Given the description of an element on the screen output the (x, y) to click on. 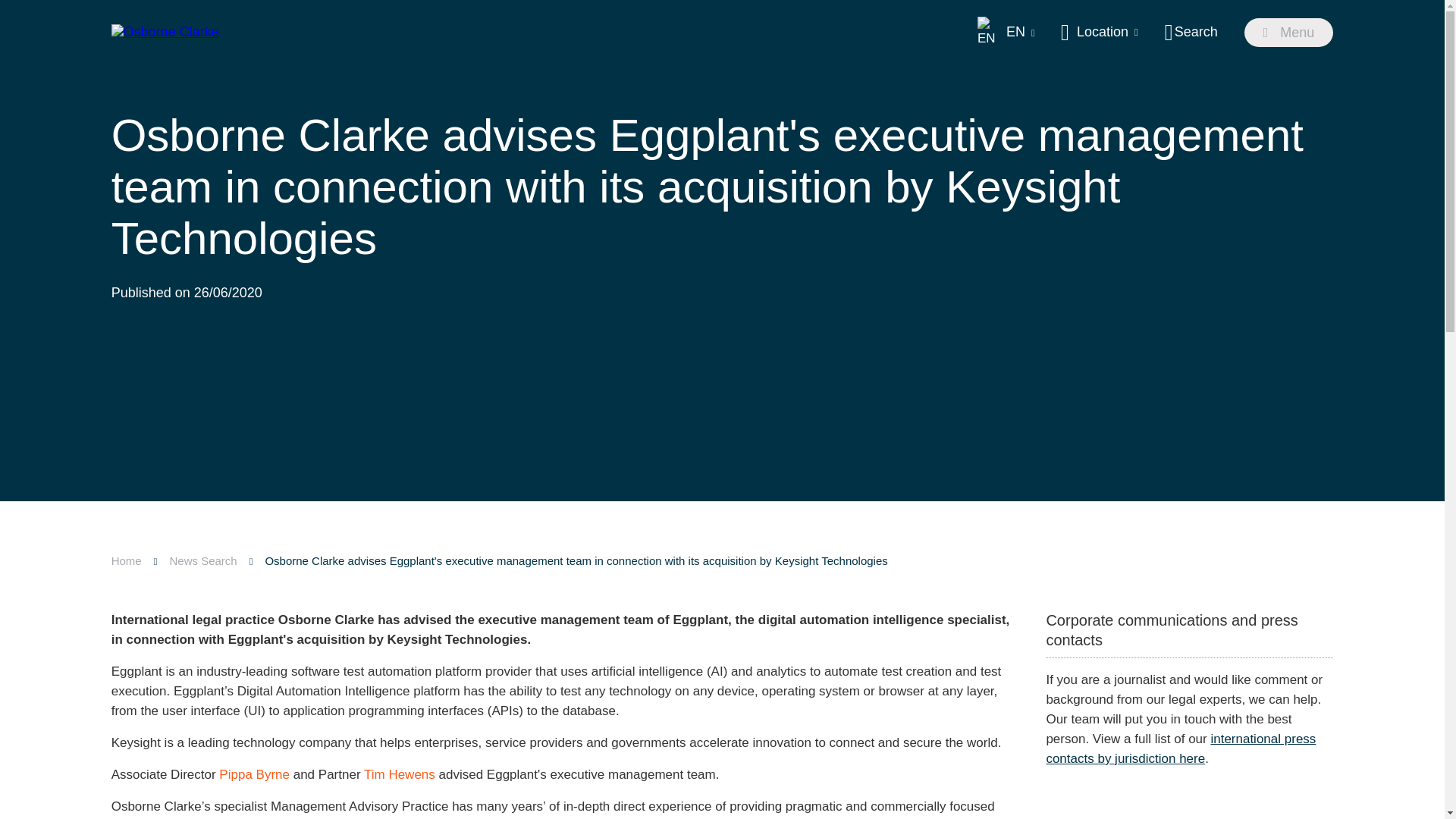
Menu (1288, 32)
Osborne Clarke (165, 32)
